Given the description of an element on the screen output the (x, y) to click on. 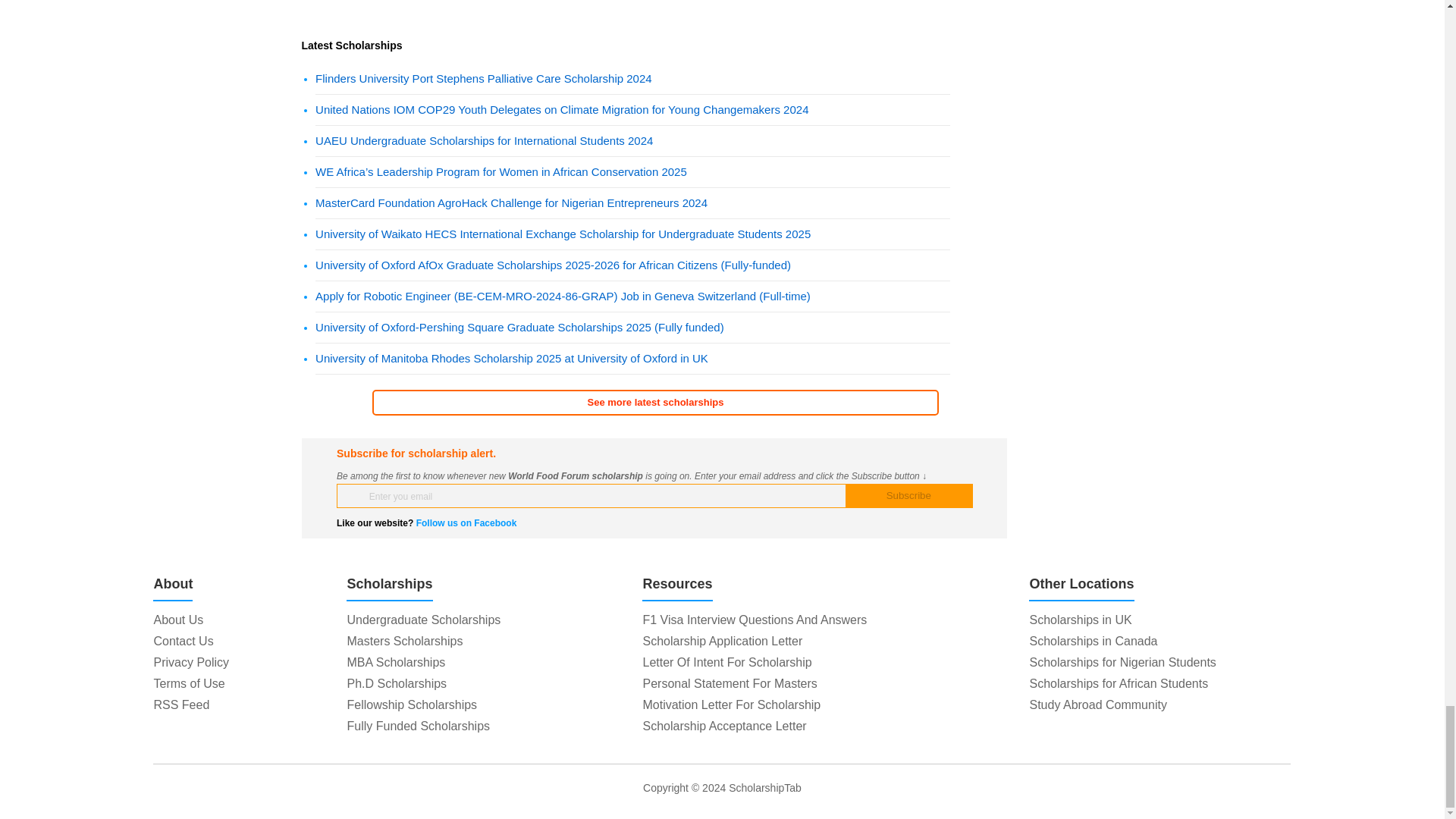
Subscribe (908, 495)
